Given the description of an element on the screen output the (x, y) to click on. 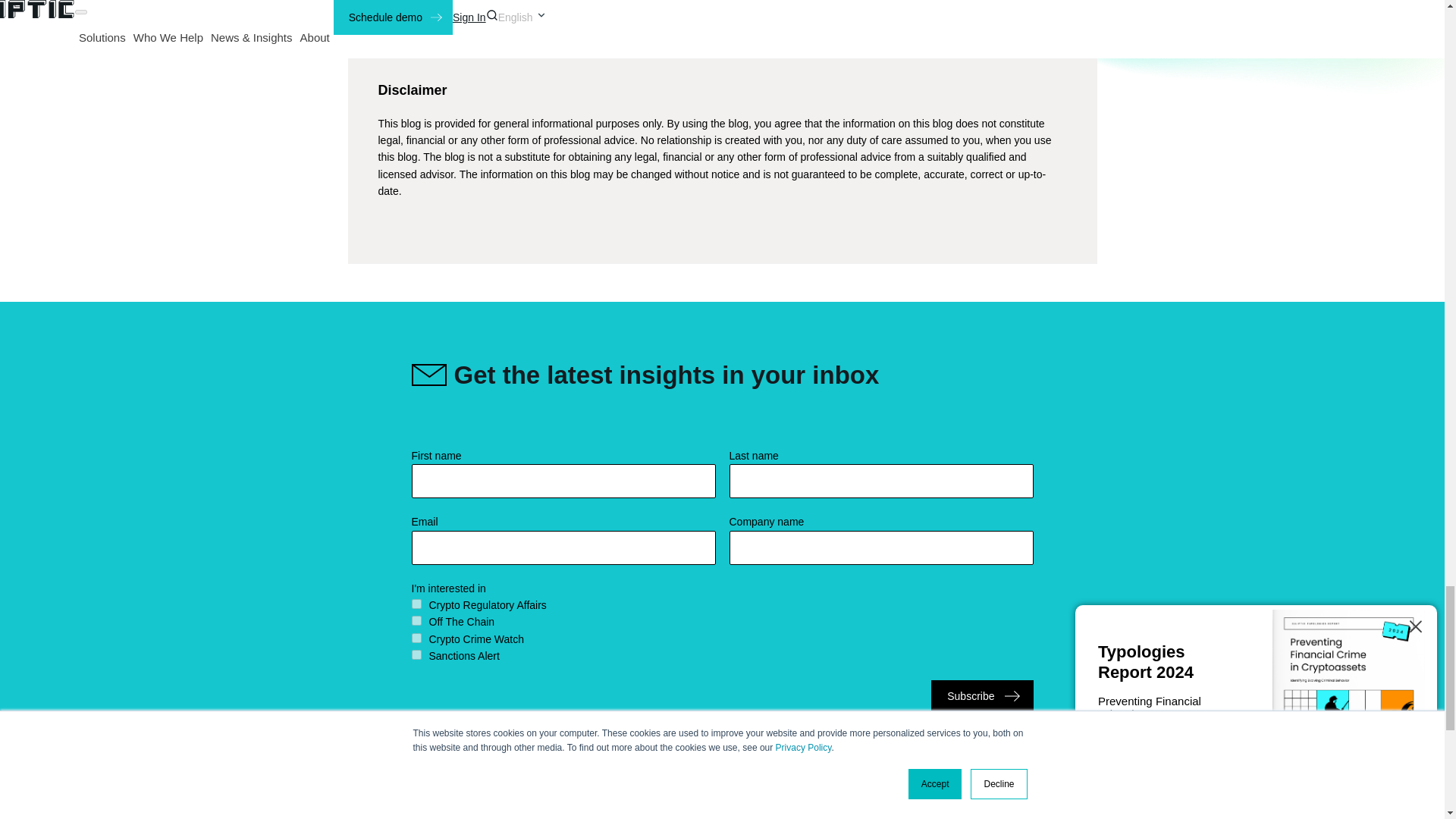
Crypto Crime (415, 637)
Subscribe (981, 695)
Off The Chain (415, 620)
Sanctions Newsletter (415, 655)
Crypto Regulations (415, 603)
